Given the description of an element on the screen output the (x, y) to click on. 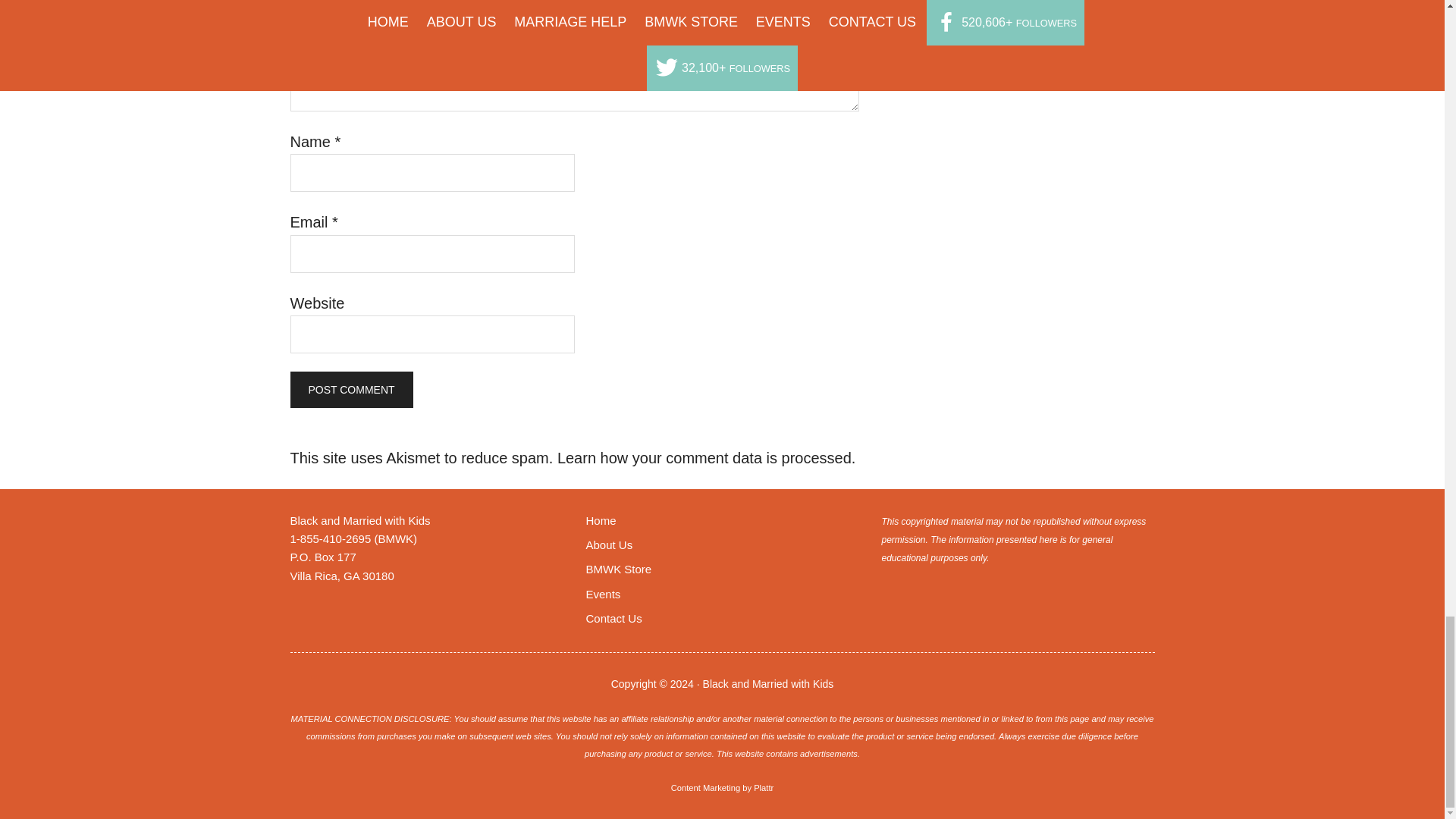
Home (600, 520)
Post Comment (350, 389)
Learn how your comment data is processed (704, 457)
Post Comment (350, 389)
